Given the description of an element on the screen output the (x, y) to click on. 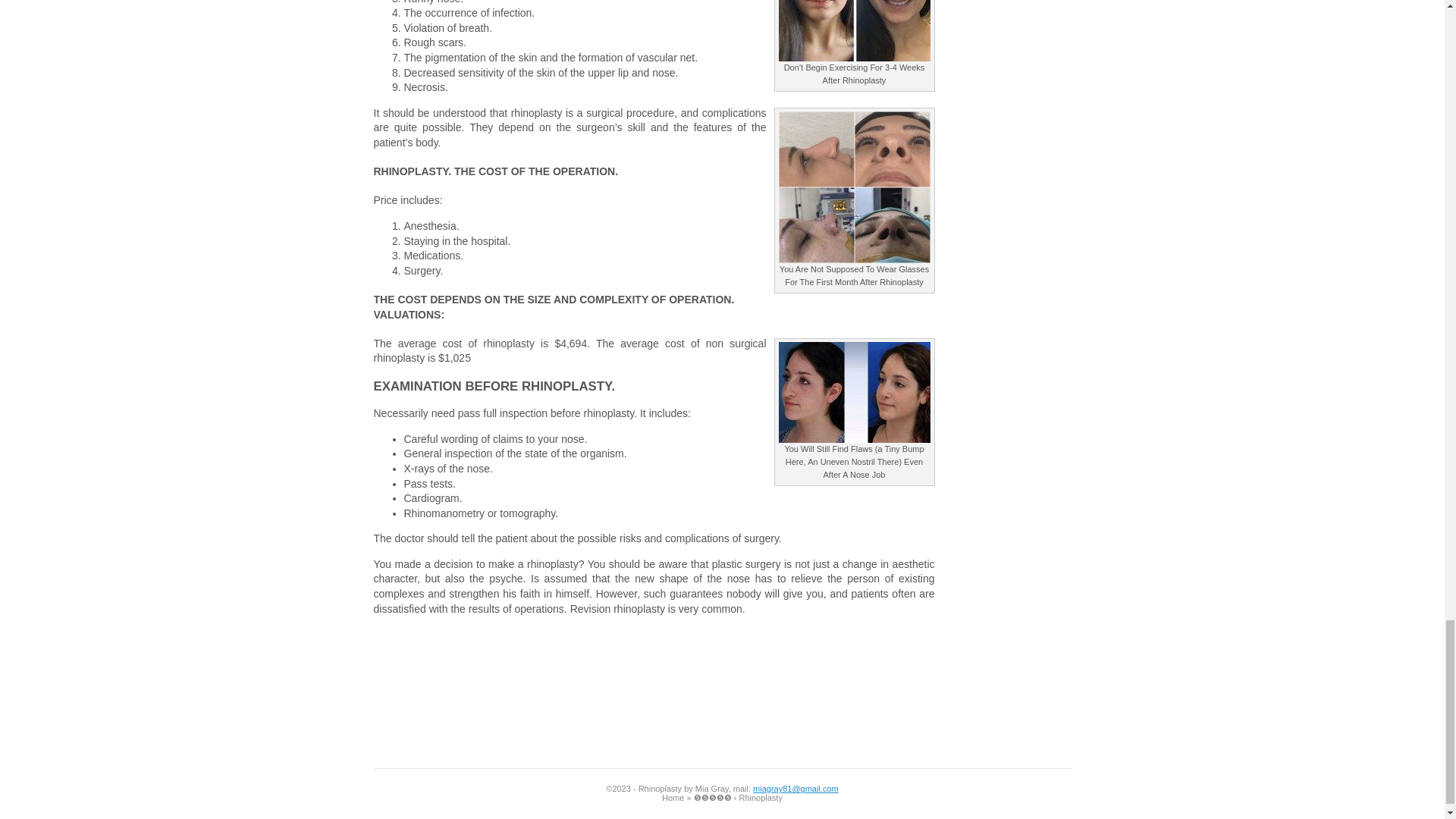
Rhinoplasty (738, 797)
Home (673, 797)
Rhinoplasty (673, 797)
